Given the description of an element on the screen output the (x, y) to click on. 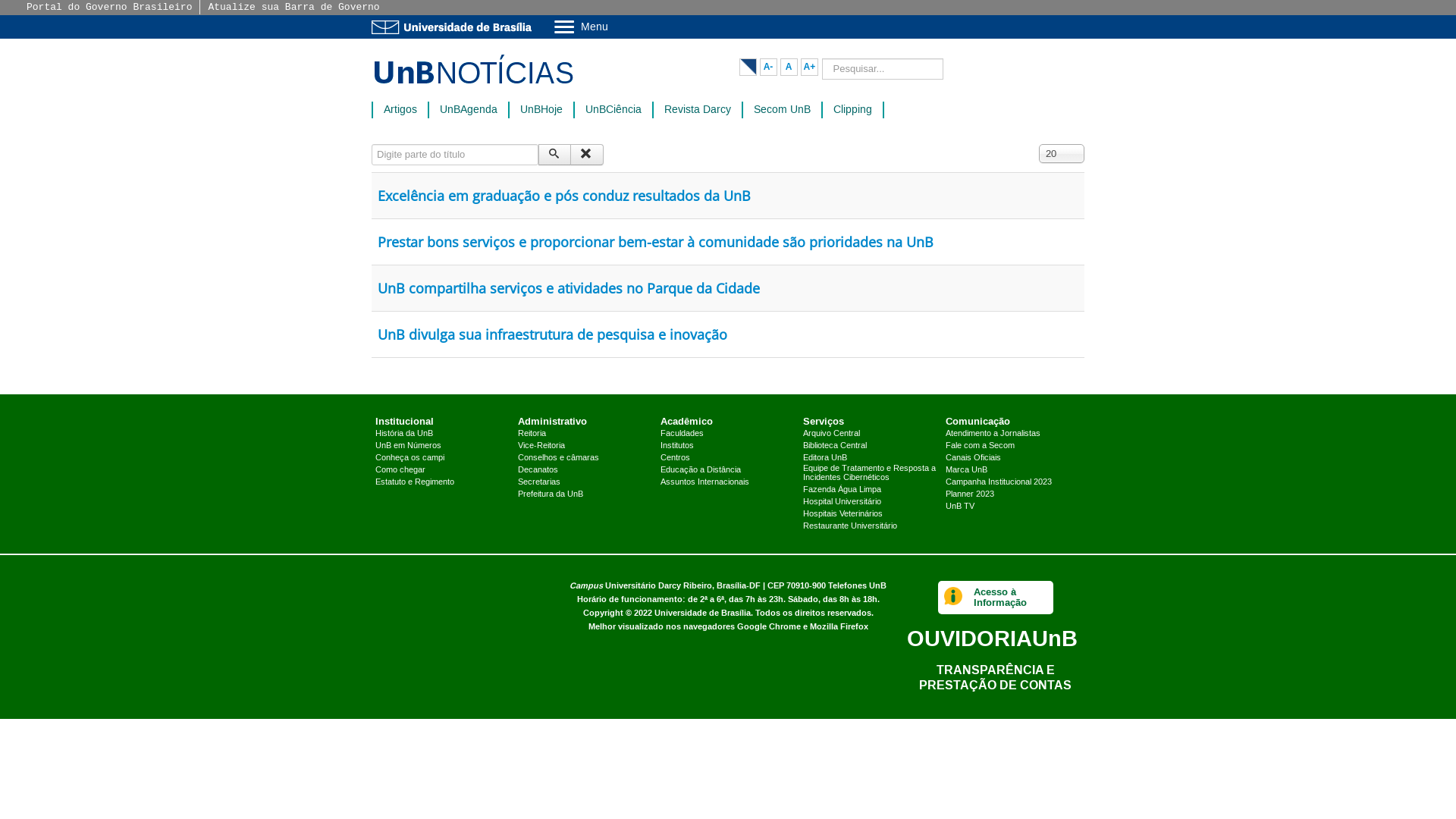
Atualize sua Barra de Governo Element type: text (293, 6)
UnBAgenda Element type: text (468, 109)
Prefeitura da UnB Element type: text (550, 493)
Artigos Element type: text (400, 109)
UnB TV Element type: text (959, 506)
Secom UnB Element type: text (782, 109)
Fale com a Secom Element type: text (979, 445)
UnBHoje Element type: text (541, 109)
Marca UnB Element type: text (966, 469)
20 Element type: text (1061, 153)
Revista Darcy Element type: text (697, 109)
Campanha Institucional 2023 Element type: text (998, 481)
A+ Element type: text (809, 66)
Reitoria Element type: text (531, 433)
Como chegar Element type: text (400, 469)
Pesquisa Element type: hover (554, 154)
Centros Element type: text (675, 457)
Limpar Element type: hover (586, 154)
Portal do Governo Brasileiro Element type: text (108, 6)
Ir para o Portal da UnB Element type: hover (454, 26)
Vice-Reitoria Element type: text (540, 445)
Secretarias Element type: text (538, 481)
Estatuto e Regimento Element type: text (414, 481)
Canais Oficiais Element type: text (973, 457)
Decanatos Element type: text (537, 469)
Arquivo Central Element type: text (831, 433)
Clipping Element type: text (852, 109)
Atendimento a Jornalistas Element type: text (992, 433)
Editora UnB Element type: text (825, 457)
A- Element type: text (768, 66)
Faculdades Element type: text (681, 433)
OUVIDORIAUnB Element type: text (991, 637)
A Element type: text (788, 66)
Telefones UnB Element type: text (857, 585)
Institutos Element type: text (676, 445)
Biblioteca Central Element type: text (834, 445)
Assuntos Internacionais Element type: text (704, 481)
Menu Element type: text (619, 25)
Planner 2023 Element type: text (969, 493)
